Given the description of an element on the screen output the (x, y) to click on. 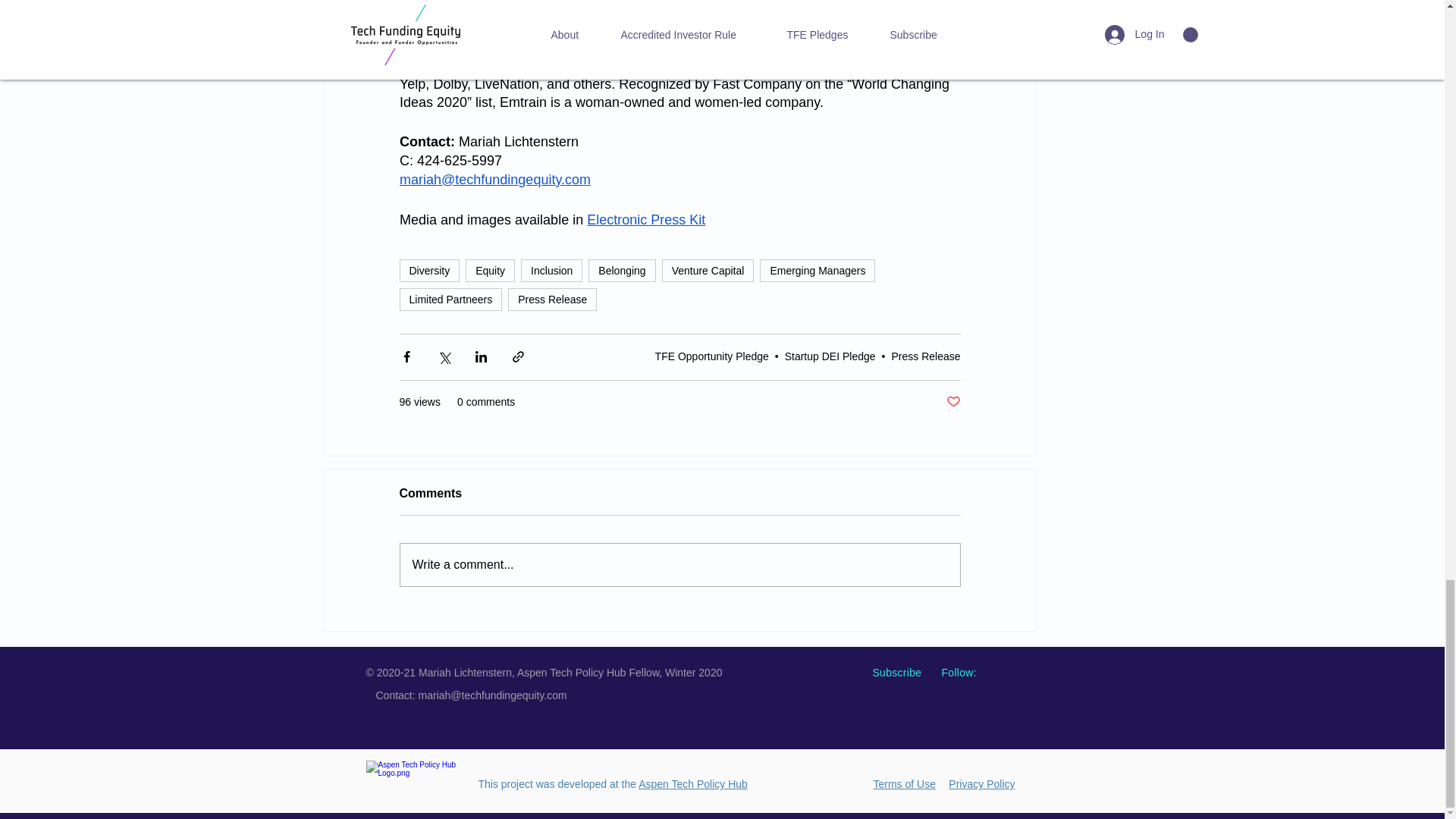
Electronic Press Kit (645, 219)
